Given the description of an element on the screen output the (x, y) to click on. 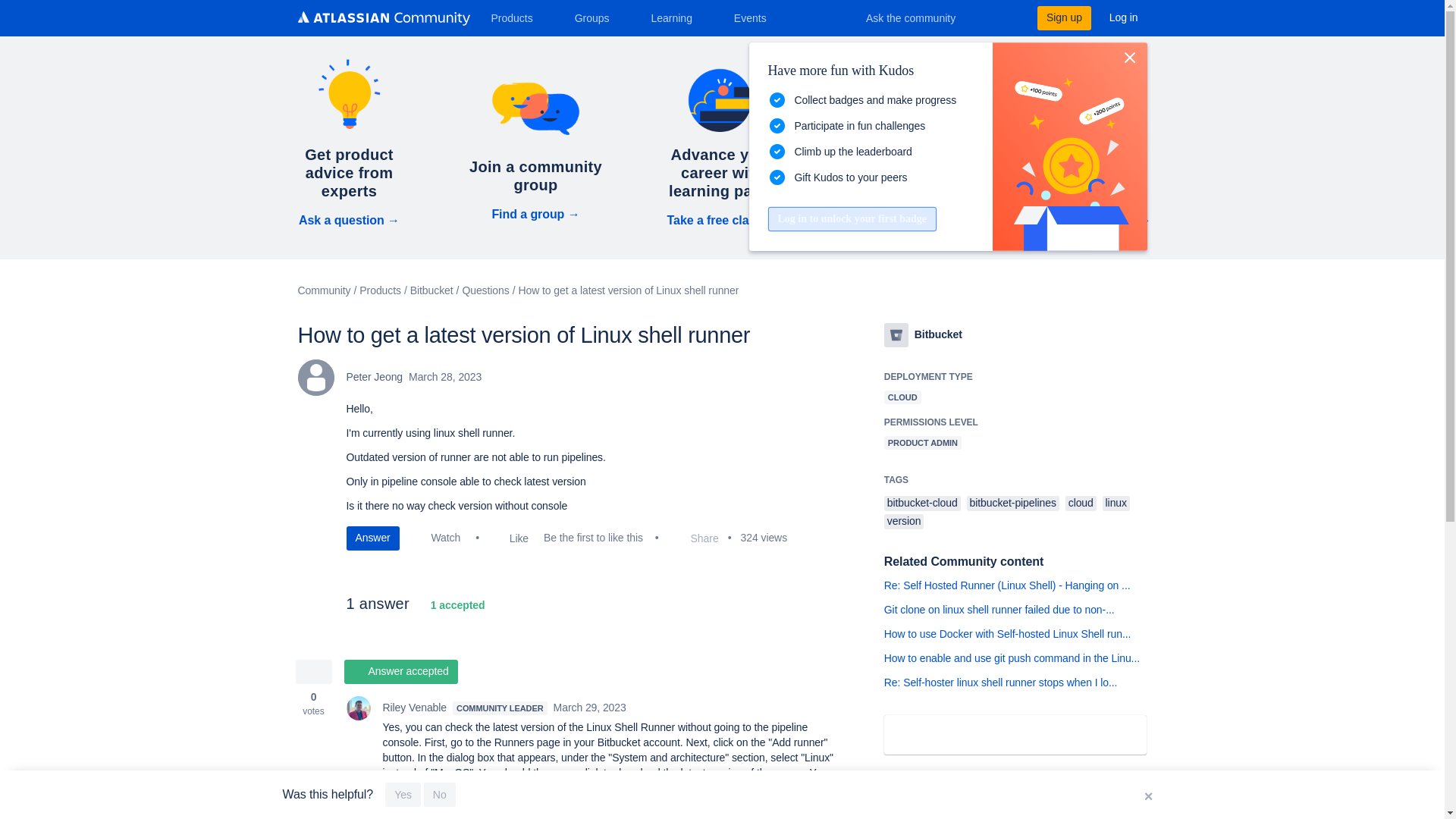
Sign up (1063, 17)
Learning (676, 17)
Atlassian Community logo (382, 19)
Groups (598, 17)
Ask the community  (921, 17)
Log in to unlock your first badge (851, 218)
Riley Venable (357, 708)
Products (517, 17)
dahoon jeong (315, 377)
Log in (1123, 17)
